Given the description of an element on the screen output the (x, y) to click on. 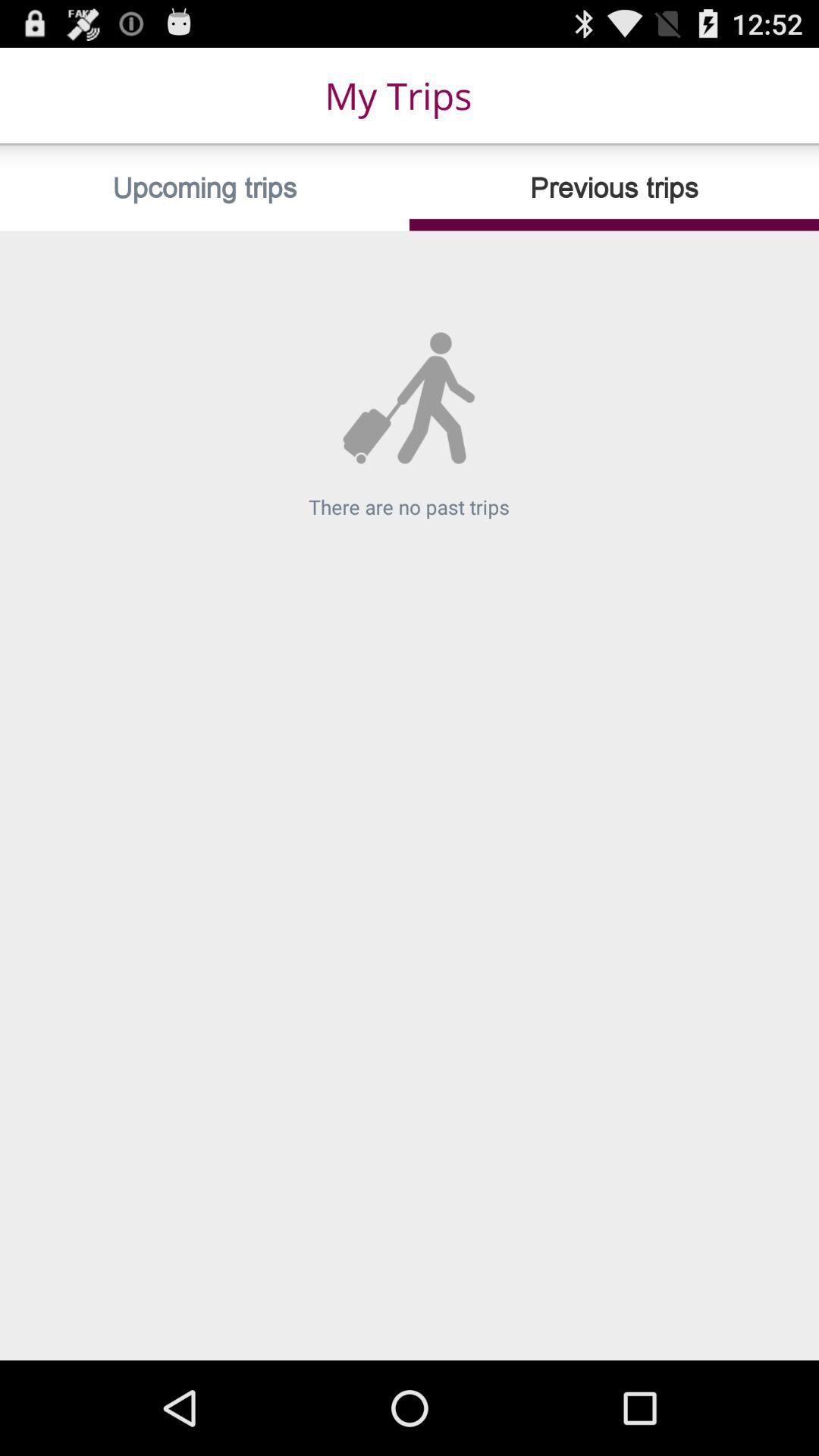
turn off the icon above there are no item (614, 187)
